Given the description of an element on the screen output the (x, y) to click on. 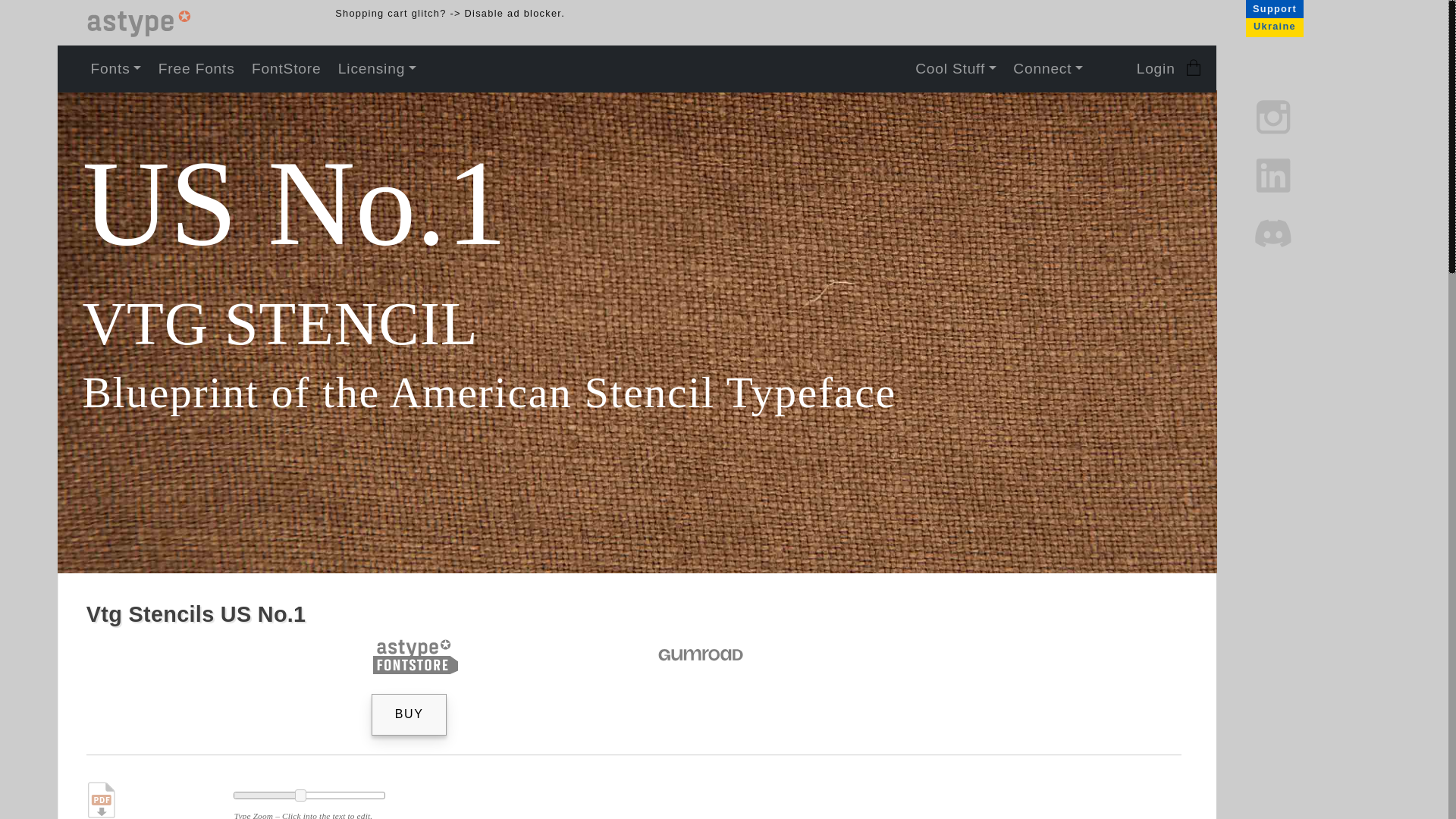
VTG STENCIL (656, 323)
astype fonts on instagram (1274, 116)
Ukraine (1274, 25)
Support (1274, 8)
astype font store - All license options. (417, 655)
astype fonts on discord (1274, 233)
Click to download the fonts pdf specimen! (102, 798)
Fonts (115, 68)
Home button - astype fonts type foundry (144, 26)
All Vtg Stencil US No.1 font on Gumroad. (702, 655)
96px (308, 795)
astype fonts on linkedin (1274, 174)
Blueprint of the American Stencil Typeface (656, 392)
